Given the description of an element on the screen output the (x, y) to click on. 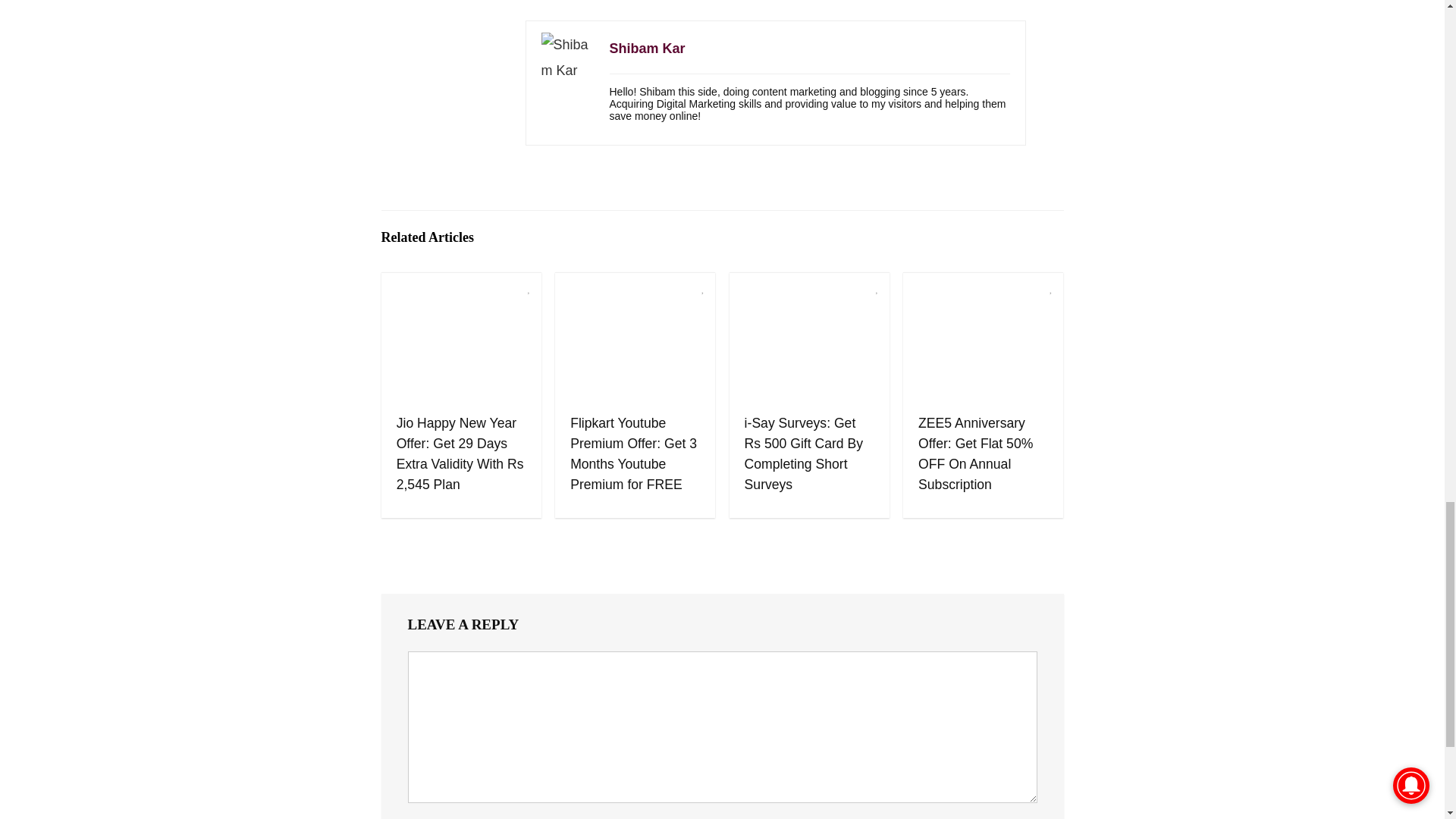
Shibam Kar (647, 48)
